Given the description of an element on the screen output the (x, y) to click on. 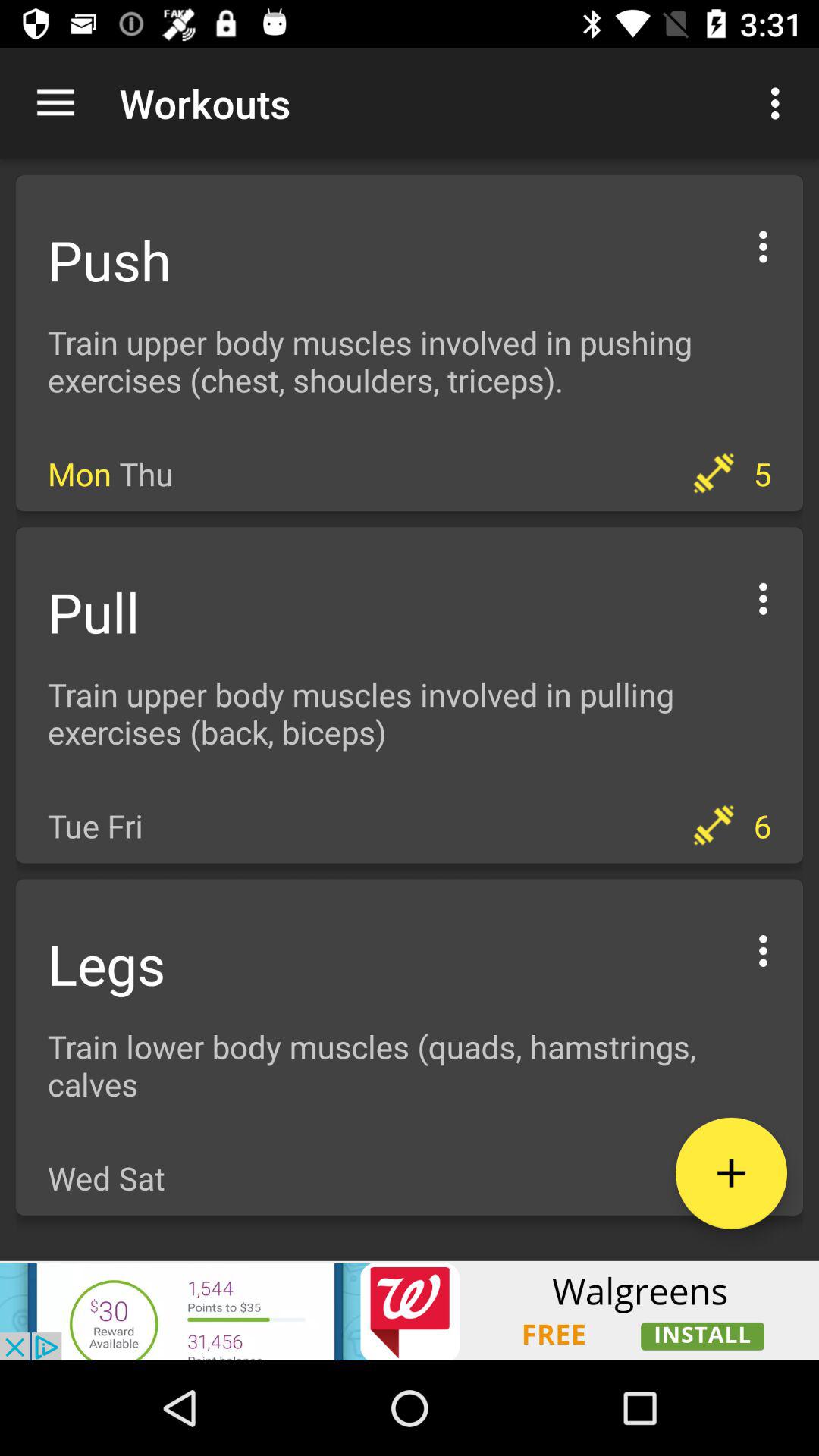
advertisement (409, 1310)
